Given the description of an element on the screen output the (x, y) to click on. 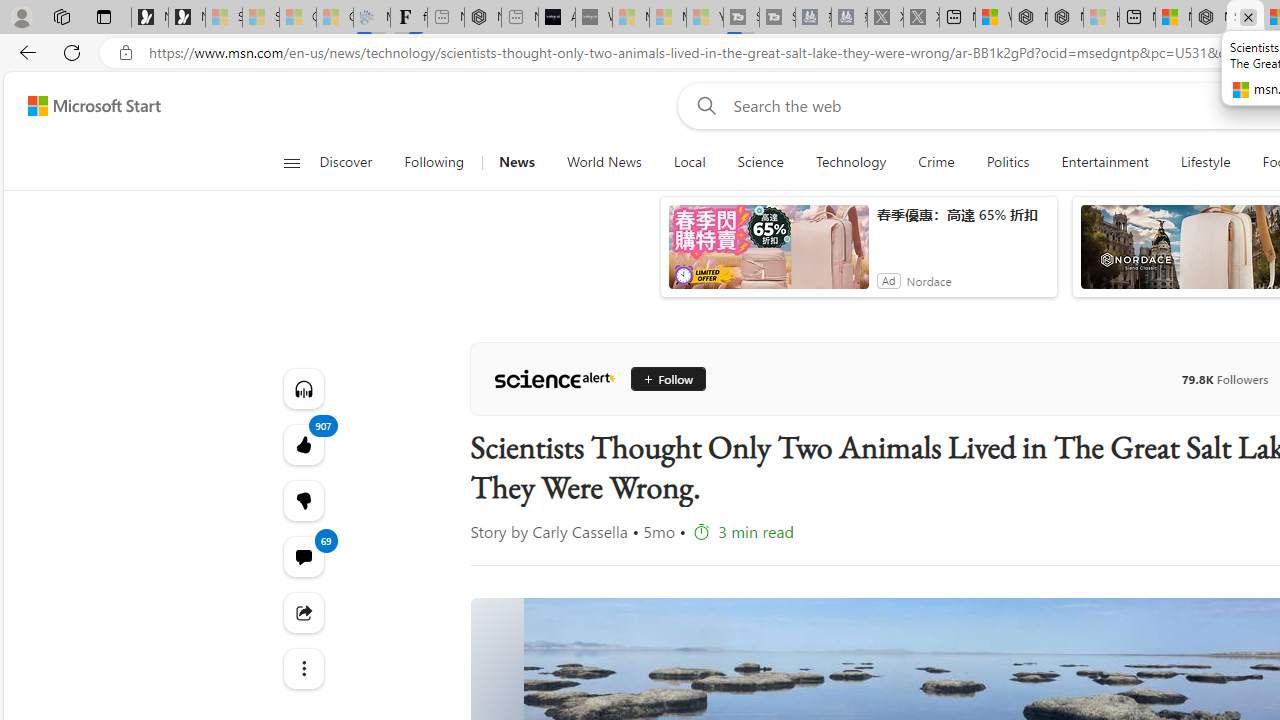
Discover (345, 162)
Streaming Coverage | T3 - Sleeping (741, 17)
Nordace - Summer Adventures 2024 (1065, 17)
Share this story (302, 612)
More like this907Fewer like thisView comments (302, 500)
Discover (353, 162)
News (516, 162)
Crime (936, 162)
View comments 69 Comment (302, 556)
Politics (1007, 162)
Politics (1007, 162)
Open navigation menu (291, 162)
